Given the description of an element on the screen output the (x, y) to click on. 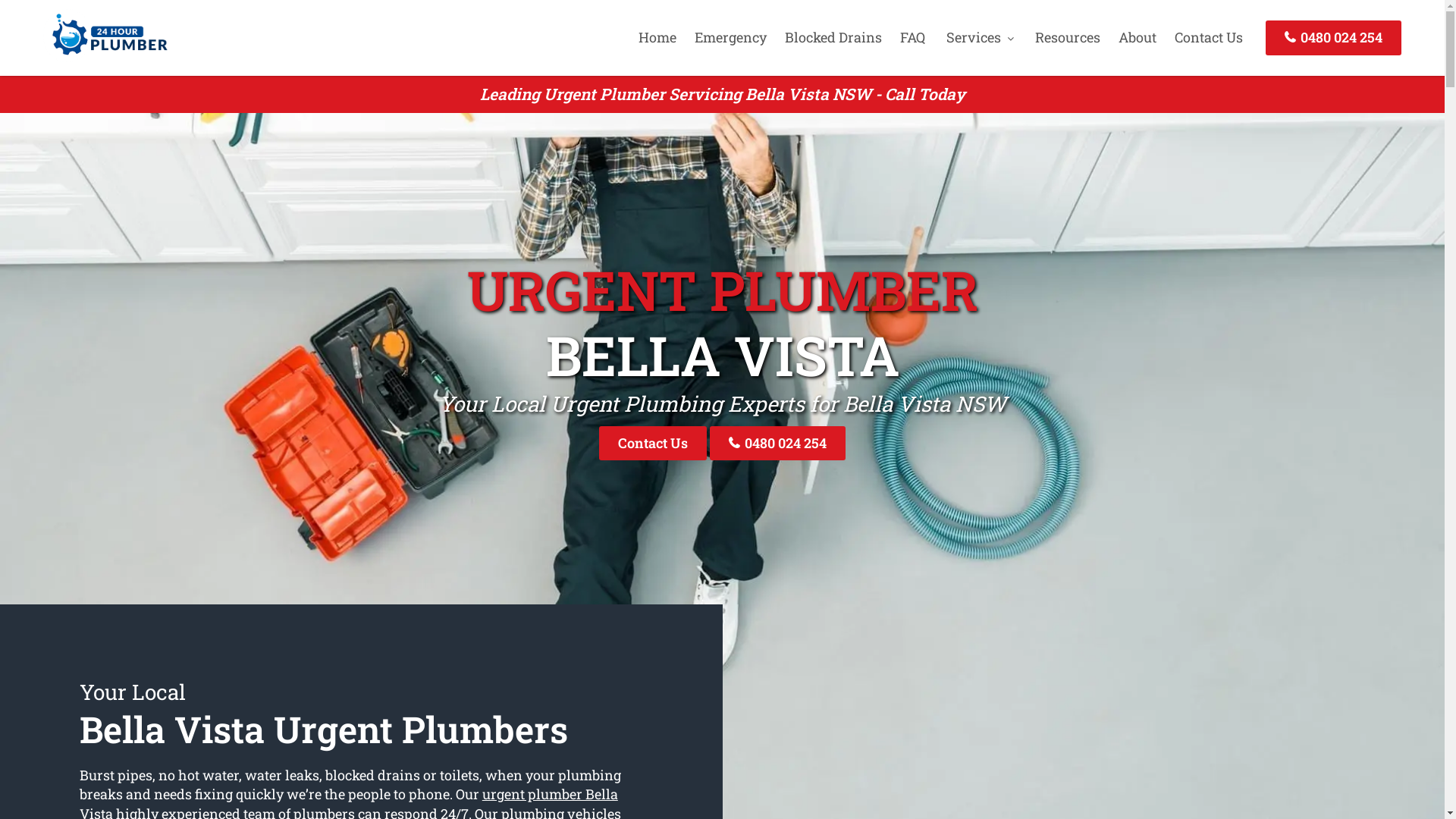
FAQ Element type: text (912, 37)
Blocked Drains Element type: text (833, 37)
Emergency Element type: text (730, 37)
Contact Us Element type: text (652, 443)
About Element type: text (1137, 37)
0480 024 254 Element type: text (1333, 37)
0480 024 254 Element type: text (777, 443)
Resources Element type: text (1067, 37)
Contact Us Element type: text (1208, 37)
Home Element type: text (657, 37)
24 Hour Plumber Element type: hover (105, 56)
Services Element type: text (979, 37)
